Given the description of an element on the screen output the (x, y) to click on. 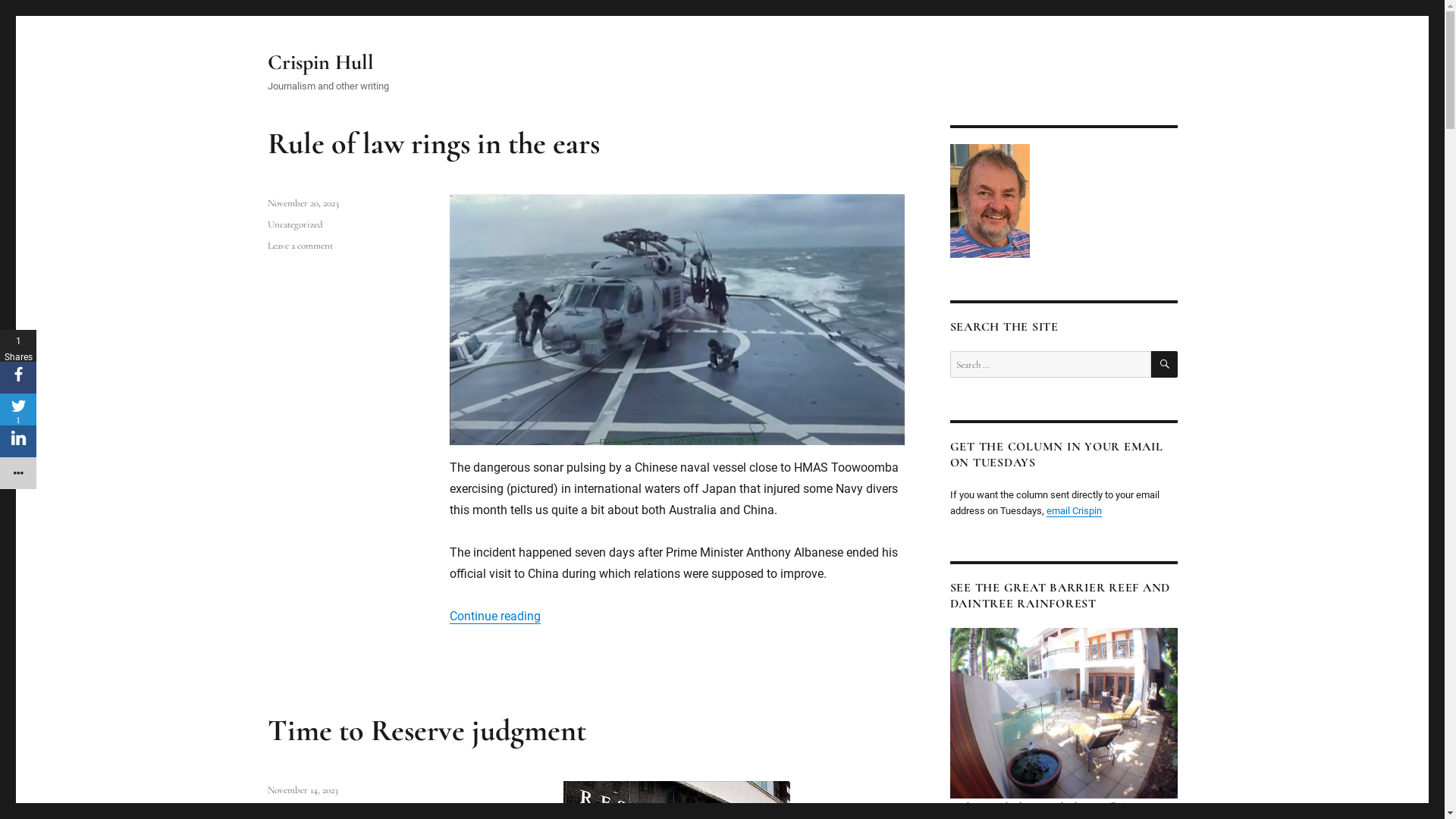
SEARCH Element type: text (1164, 364)
Uncategorized Element type: text (294, 811)
1 Element type: text (18, 409)
Uncategorized Element type: text (294, 224)
November 20, 2023 Element type: text (302, 203)
Crispin Hull Element type: text (319, 62)
email Crispin Element type: text (1073, 510)
Time to Reserve judgment Element type: text (425, 730)
Leave a comment
on Rule of law rings in the ears Element type: text (299, 245)
Rule of law rings in the ears Element type: text (432, 143)
November 14, 2023 Element type: text (301, 790)
